Given the description of an element on the screen output the (x, y) to click on. 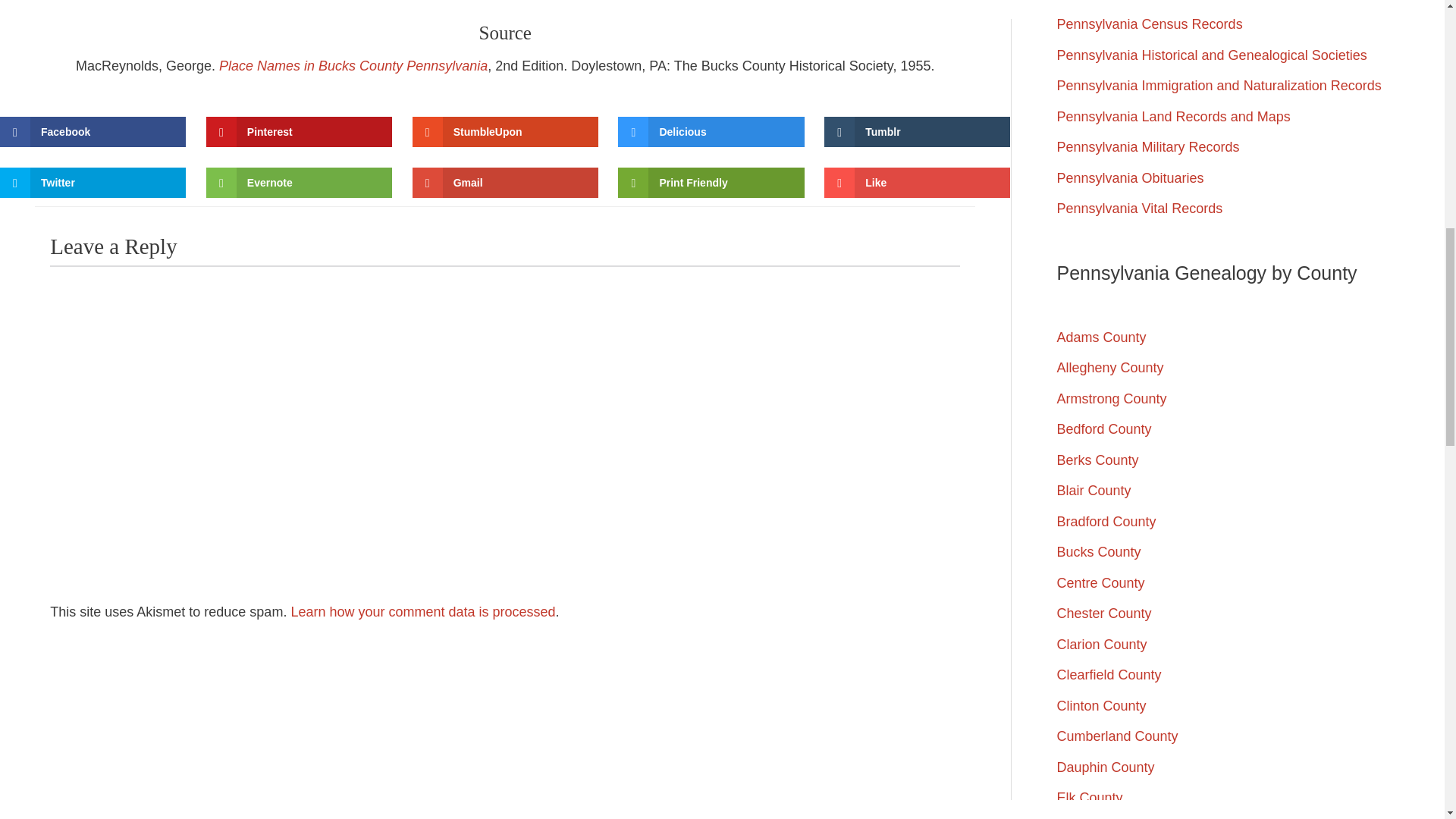
Pennsylvania Historical and Genealogical Societies (1212, 55)
Facebook (93, 132)
Adams County (1102, 337)
Gmail (505, 182)
Twitter (93, 182)
Tumblr (917, 132)
Delicious (710, 132)
Print Friendly (710, 182)
Pinterest (298, 132)
Pennsylvania Land Records and Maps (1173, 116)
Evernote (298, 182)
Pennsylvania Census Records (1150, 23)
Bedford County (1104, 428)
Pennsylvania Military Records (1148, 146)
